Given the description of an element on the screen output the (x, y) to click on. 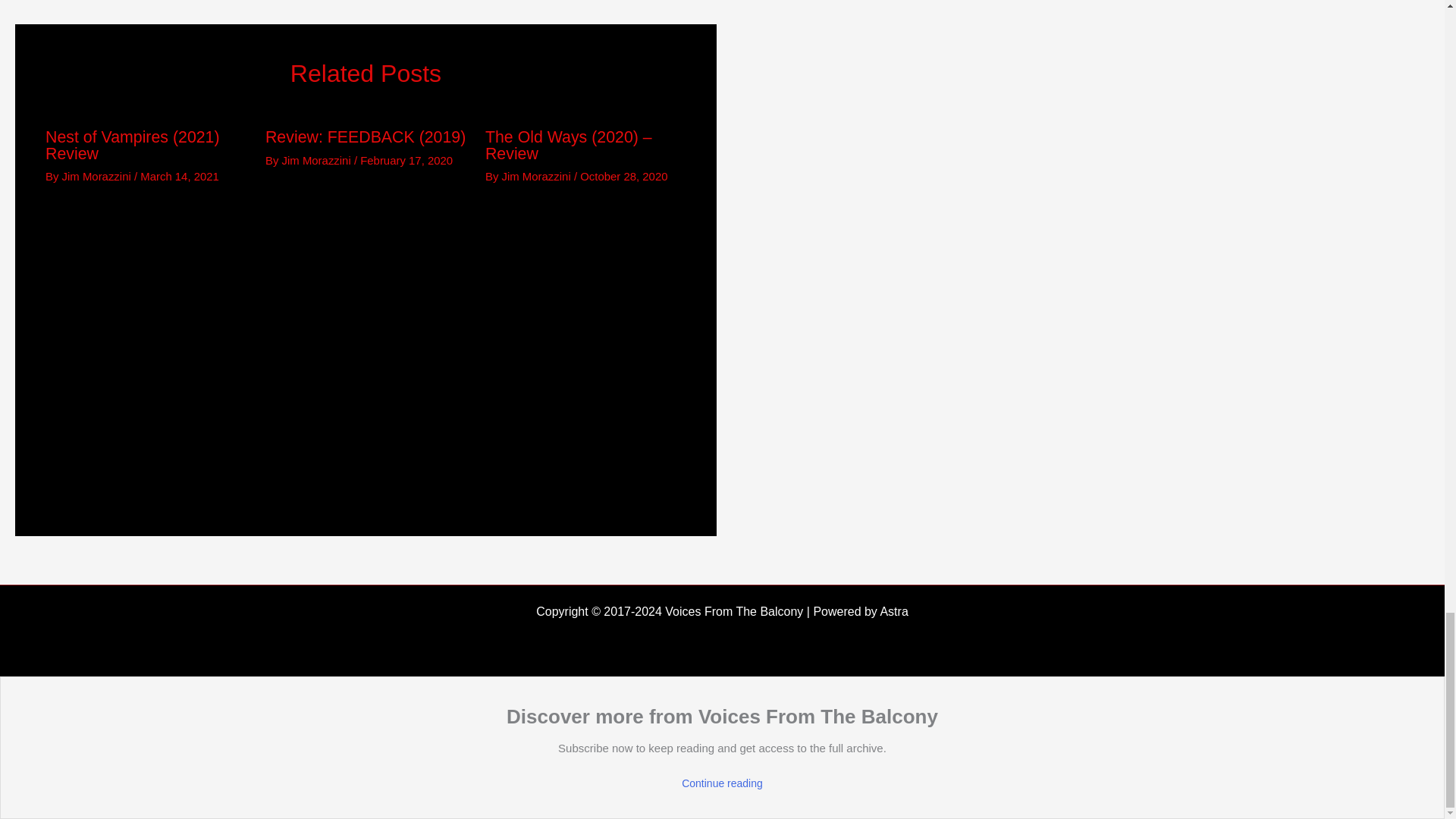
View all posts by Jim Morazzini (537, 175)
Jim Morazzini (317, 160)
View all posts by Jim Morazzini (317, 160)
Jim Morazzini (537, 175)
Jim Morazzini (97, 175)
View all posts by Jim Morazzini (97, 175)
